Given the description of an element on the screen output the (x, y) to click on. 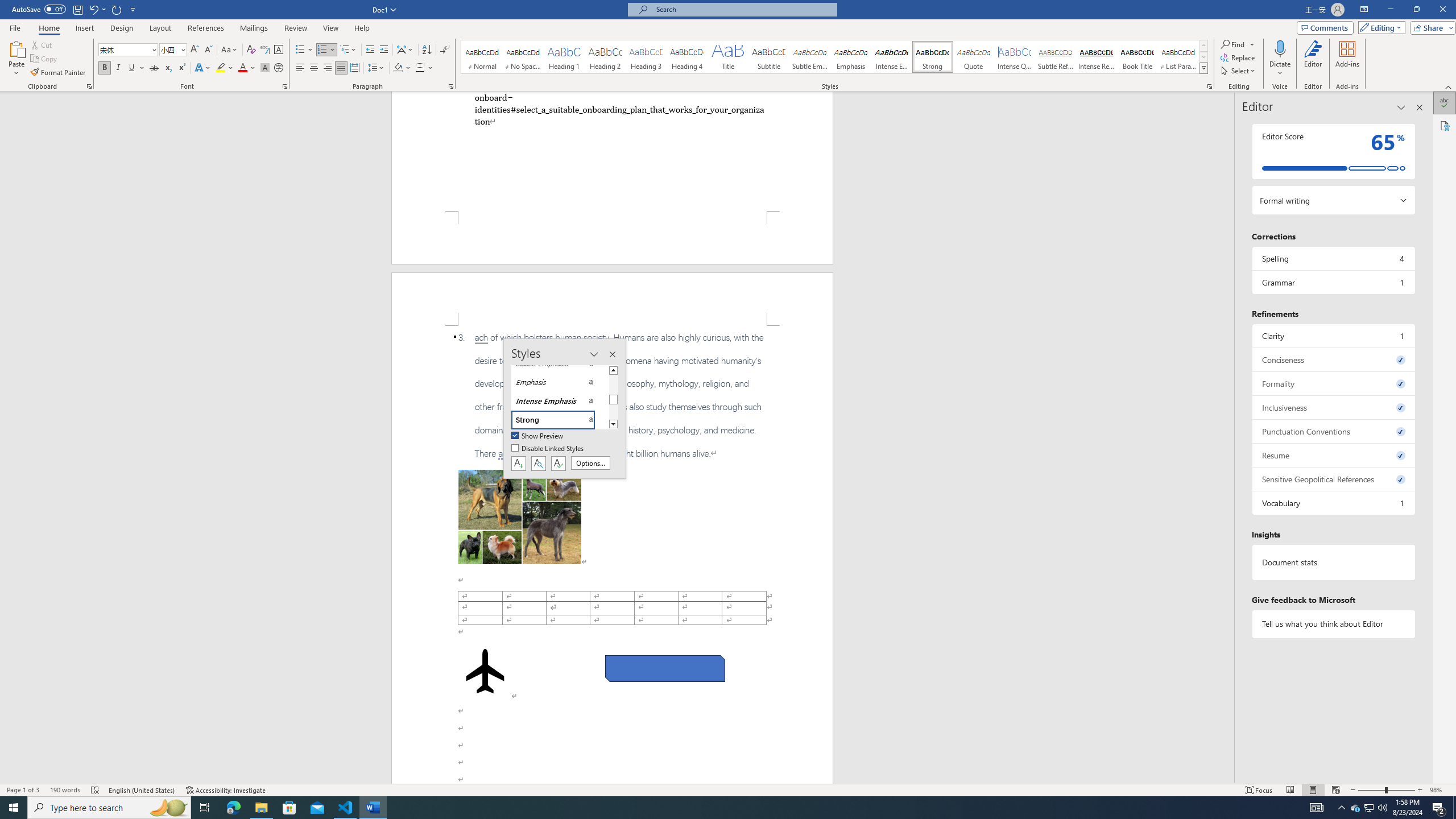
Vocabulary, 1 issue. Press space or enter to review items. (1333, 502)
Heading 4 (686, 56)
